Given the description of an element on the screen output the (x, y) to click on. 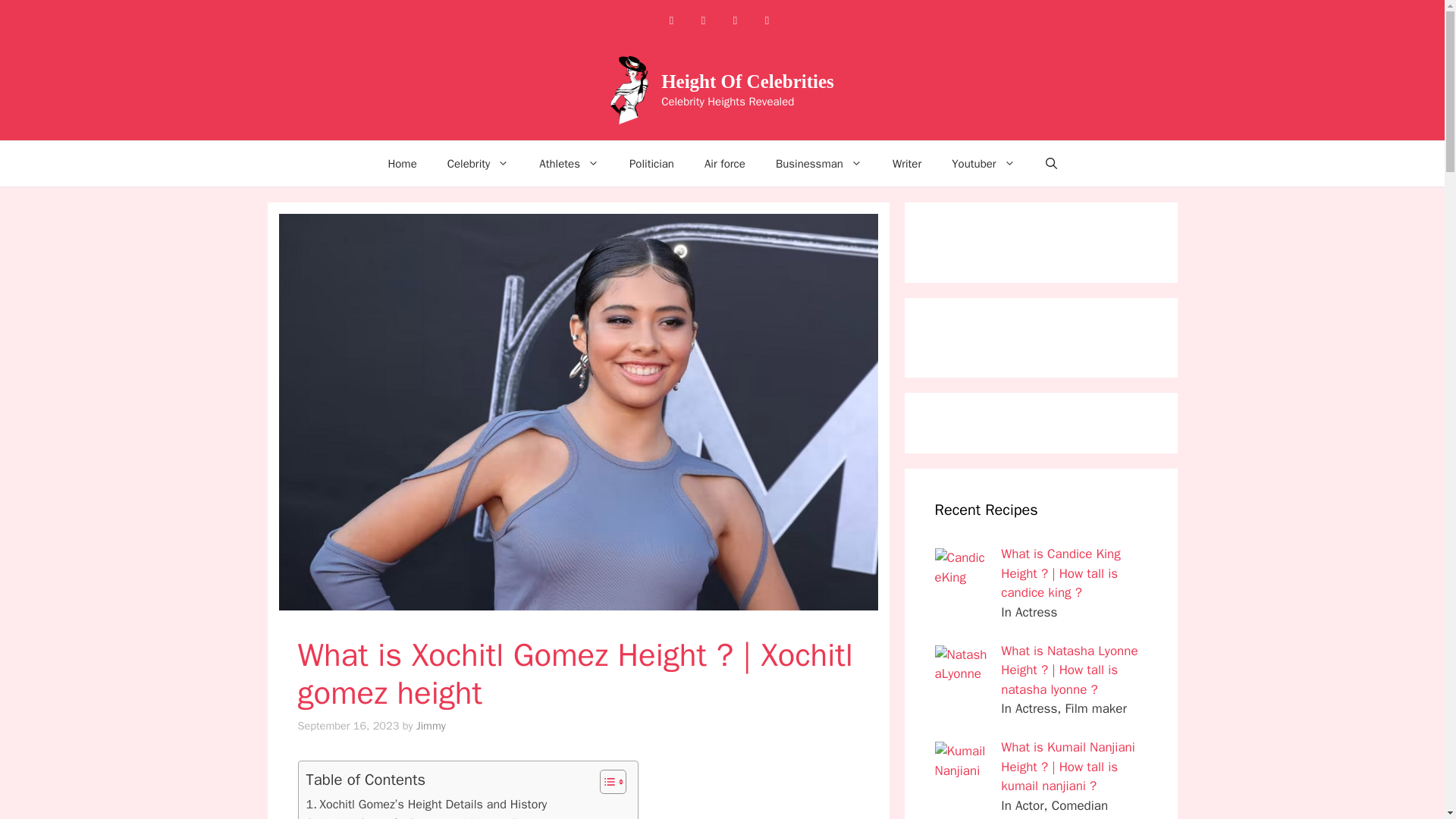
Air force (724, 163)
Athletes (569, 163)
Facebook (671, 20)
View all posts by Jimmy (430, 725)
Politician (651, 163)
Celebrity (478, 163)
Pinterest (735, 20)
Youtuber (982, 163)
Writer (906, 163)
Businessman (818, 163)
